Given the description of an element on the screen output the (x, y) to click on. 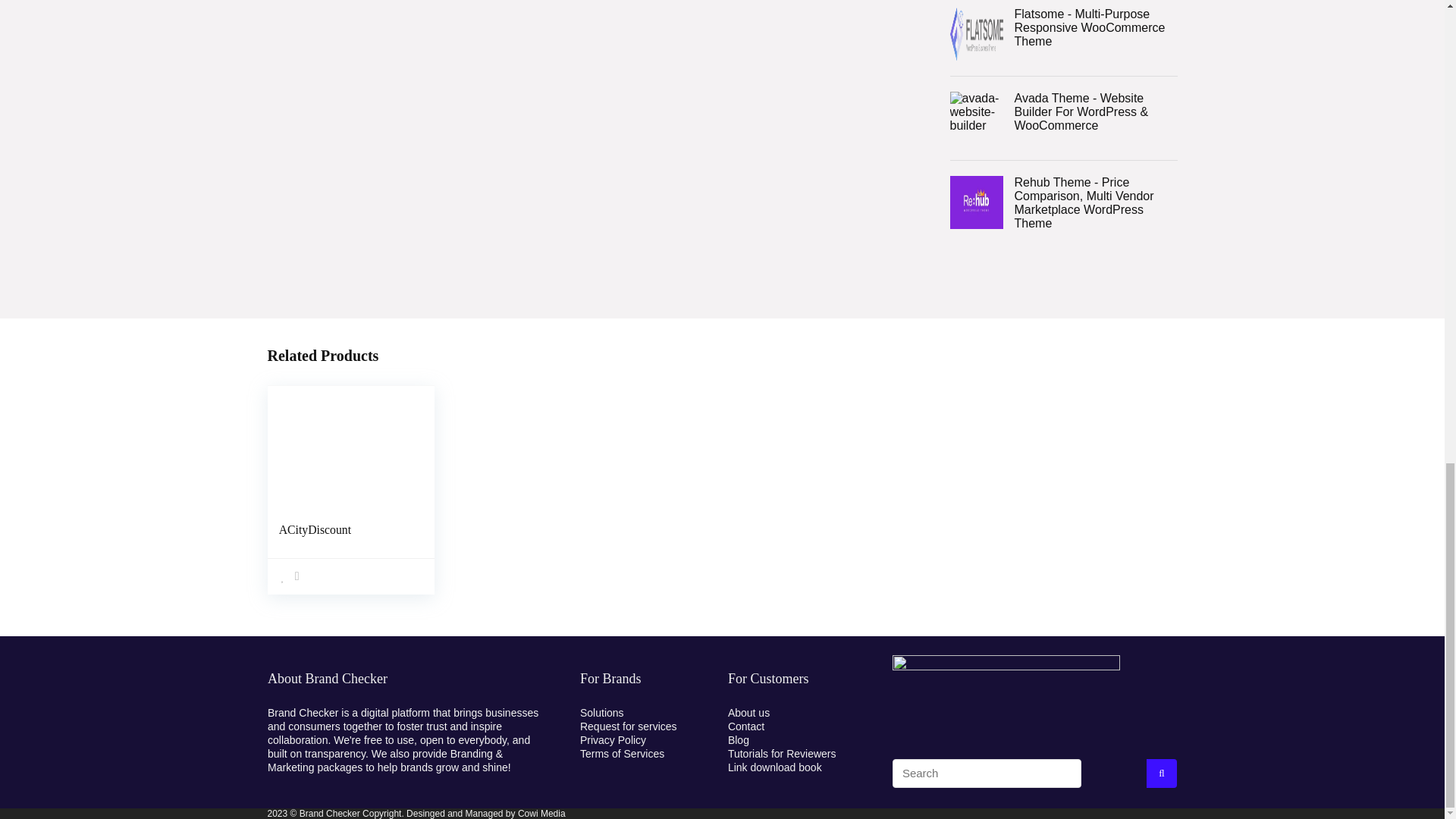
ACityDiscount (314, 529)
Link download book: (775, 767)
Request for services (628, 726)
Solutions (601, 712)
Flatsome - Multi-Purpose Responsive WooCommerce Theme (1062, 27)
